Given the description of an element on the screen output the (x, y) to click on. 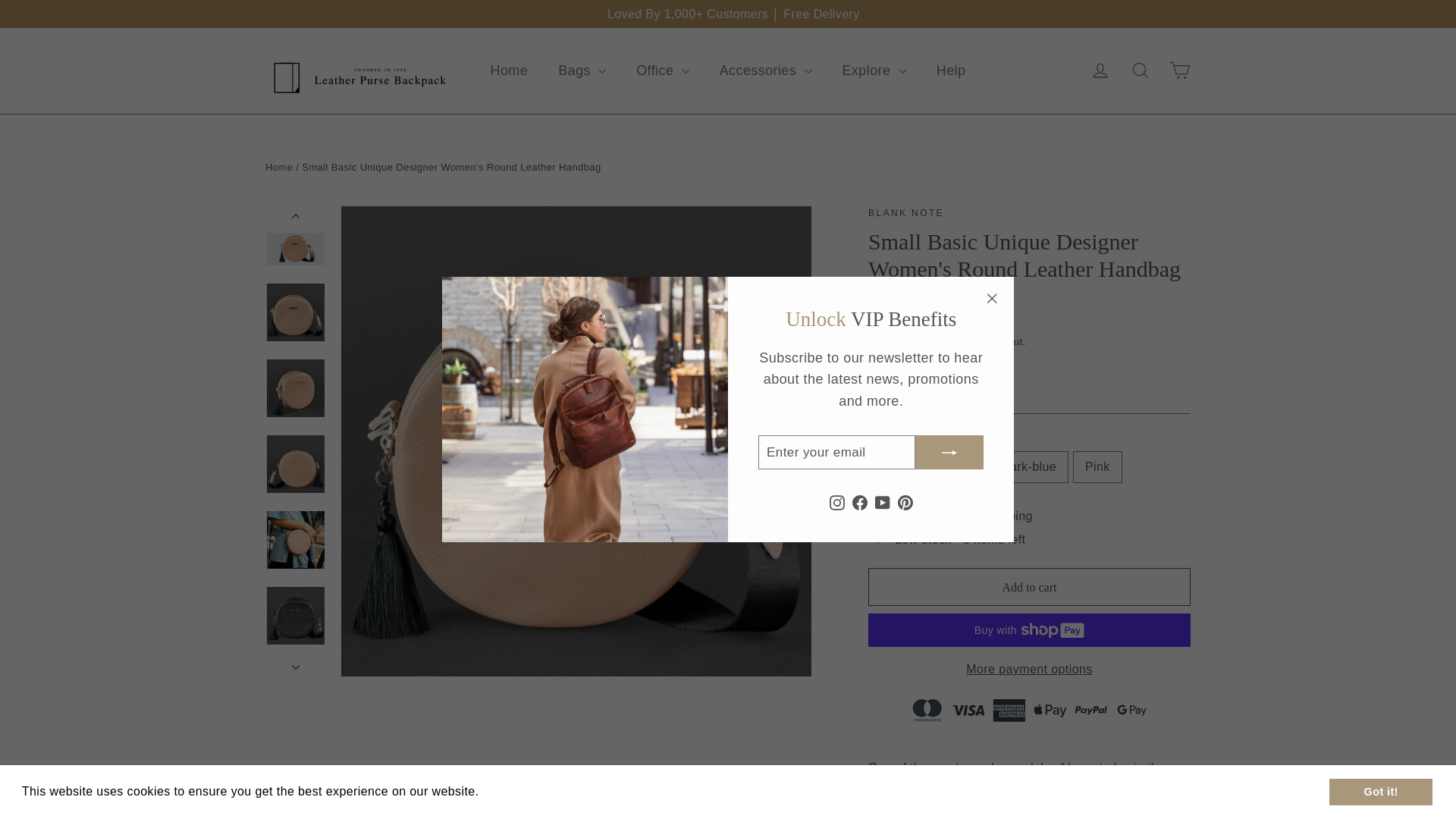
icon-X (992, 298)
Got it! (1380, 791)
Read policy (517, 791)
icon-cart (1180, 70)
Leather Purse Backpack on Pinterest (905, 501)
Back to the frontpage (278, 166)
account (1099, 70)
Leather Purse Backpack on Facebook (859, 501)
icon-search (1140, 70)
trust-badges-widget (1029, 706)
Leather Purse Backpack on Instagram (836, 501)
Leather Purse Backpack on YouTube (881, 501)
